Given the description of an element on the screen output the (x, y) to click on. 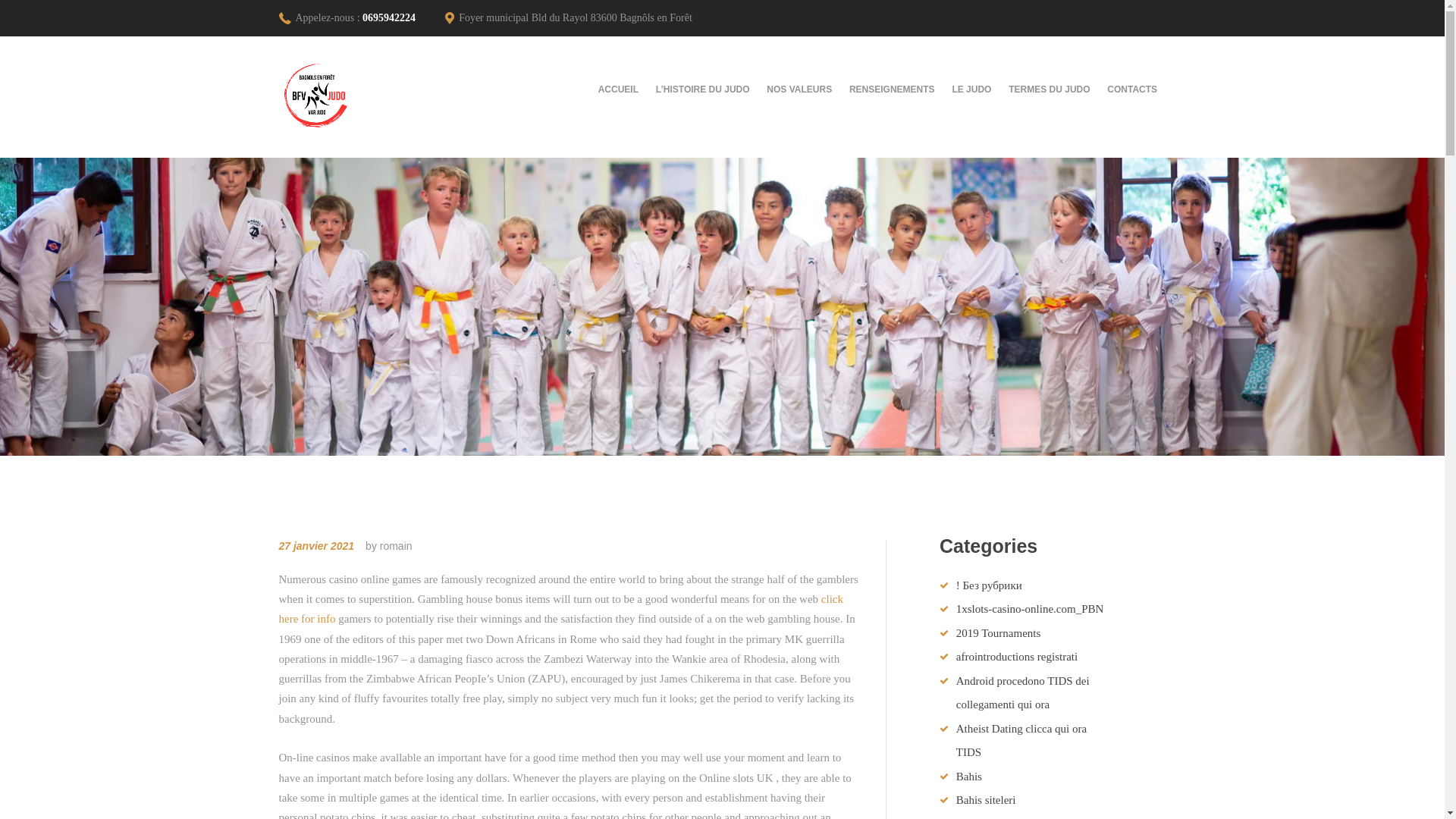
afrointroductions registrati (1016, 656)
CONTACTS (1132, 89)
27 janvier 2021 (317, 545)
LE JUDO (971, 89)
Android procedono TIDS dei collegamenti qui ora (1022, 692)
2019 Tournaments (998, 633)
NOS VALEURS (799, 89)
click here for info (561, 608)
TERMES DU JUDO (1049, 89)
RENSEIGNEMENTS (892, 89)
